Given the description of an element on the screen output the (x, y) to click on. 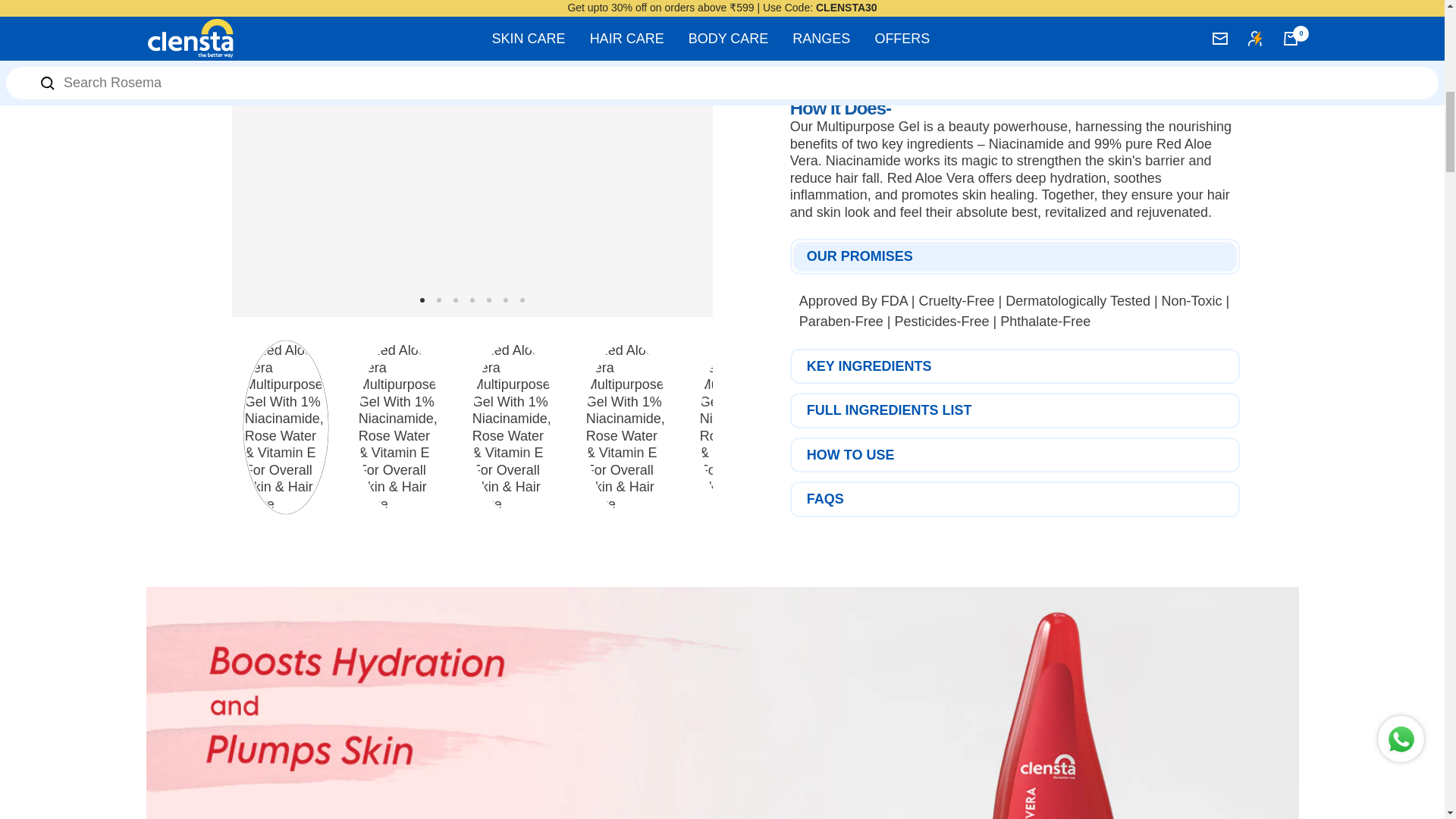
FULL INGREDIENTS LIST (1015, 410)
KEY INGREDIENTS (1015, 366)
HOW TO USE (1015, 455)
OUR PROMISES (1015, 256)
FAQS (1015, 499)
